Given the description of an element on the screen output the (x, y) to click on. 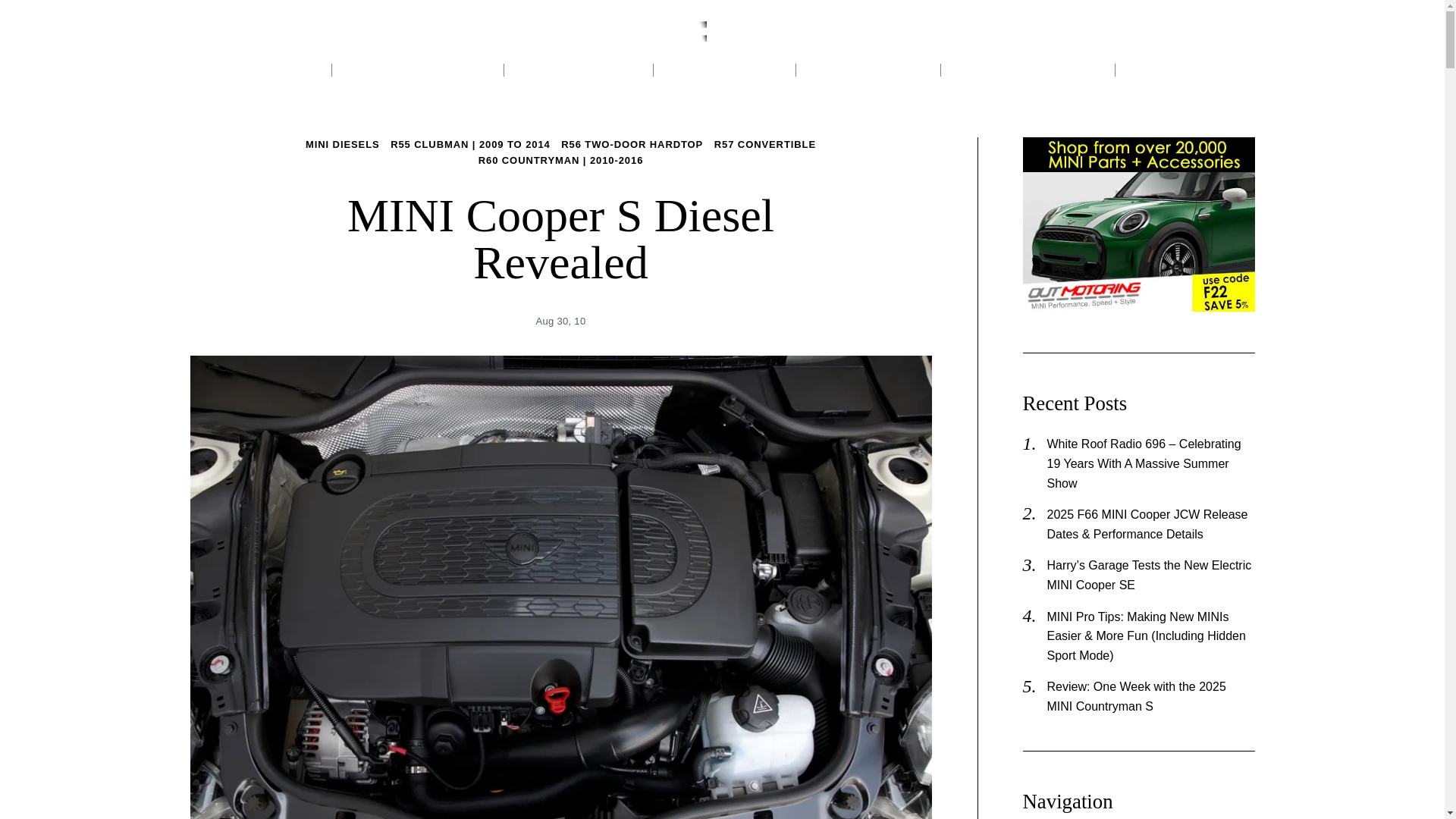
MINI ACEMAN (723, 70)
MINI Clubman (578, 70)
MINI REVIEWS (869, 70)
CATEGORIES (1185, 70)
MINI CLUBMAN (578, 70)
MINI COOPER (260, 70)
MINI GENERATIONS (1027, 70)
MINI COUNTRYMAN (417, 70)
MINI Cooper (260, 70)
MINI Countryman (417, 70)
